Given the description of an element on the screen output the (x, y) to click on. 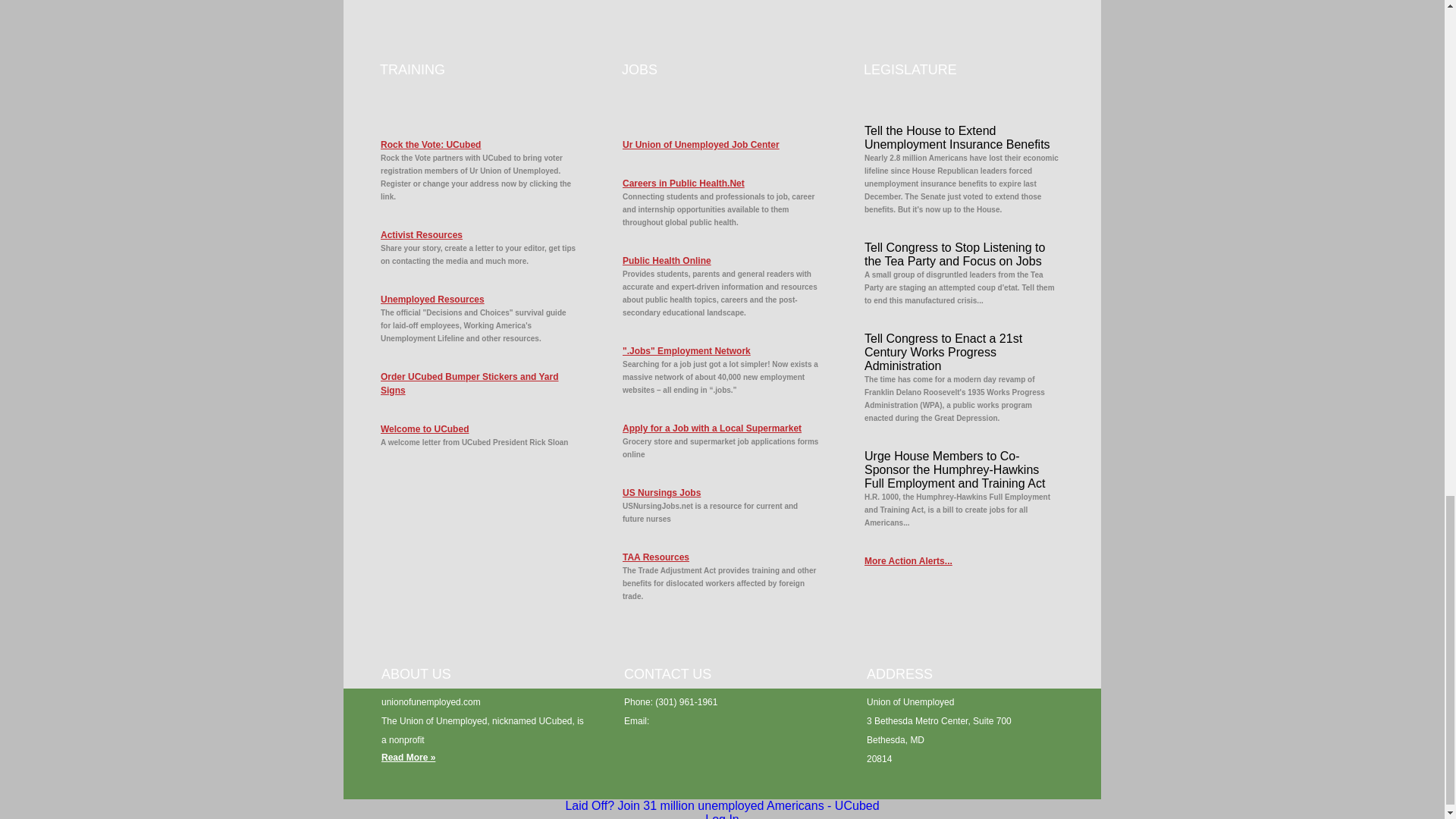
Unemployed Resources (479, 299)
Welcome to UCubed (479, 428)
Rock the Vote: UCubed (479, 144)
JOBS (639, 69)
Activist Resources (479, 234)
Ur Union of Unemployed Job Center (721, 144)
".Jobs" Employment Network (721, 350)
Order UCubed Bumper Stickers and Yard Signs (479, 383)
Unemployed Resources (479, 299)
